Given the description of an element on the screen output the (x, y) to click on. 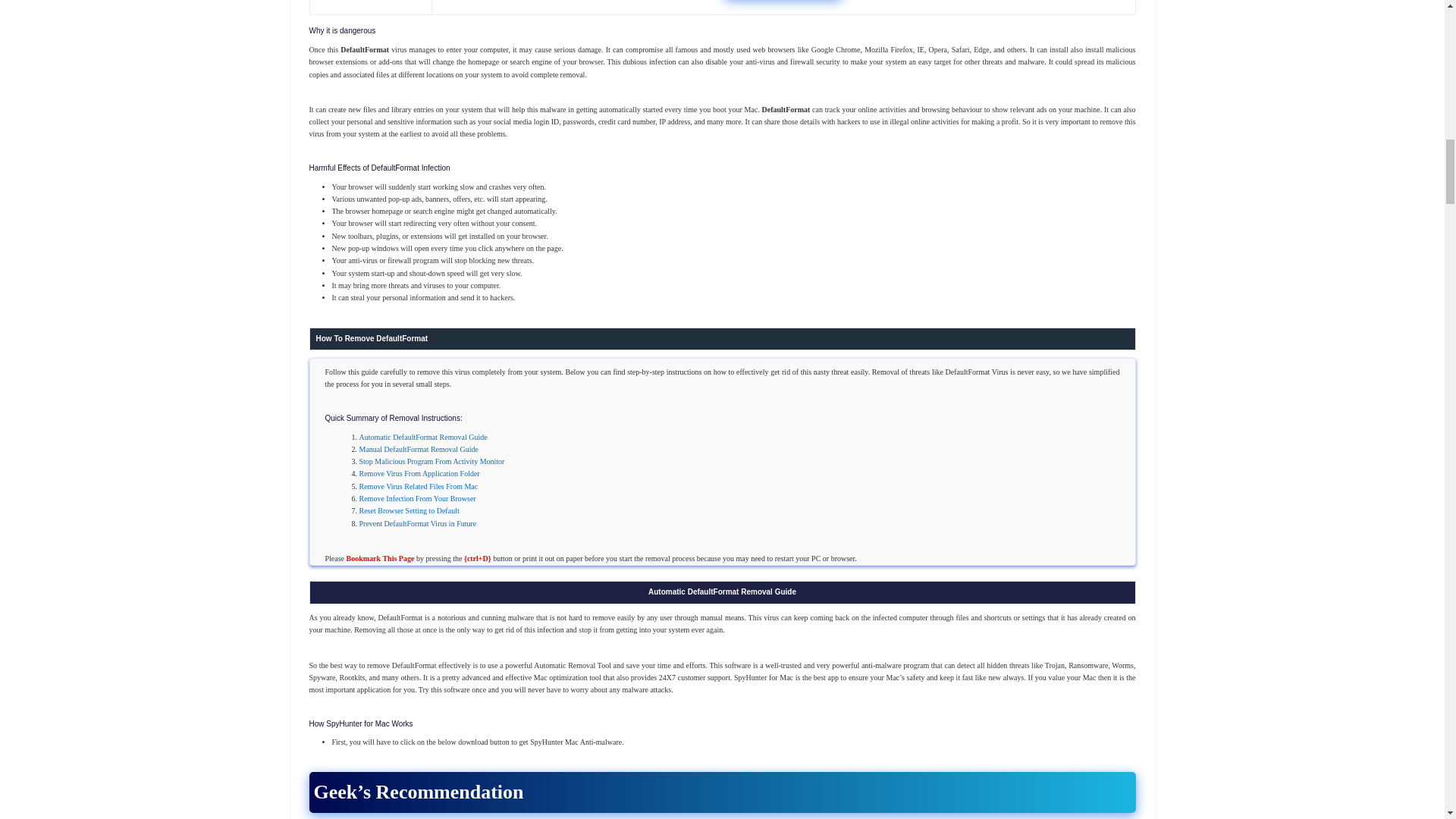
Prevent DefaultFormat Virus in Future (418, 523)
Manual DefaultFormat Removal Guide (419, 449)
Automatic DefaultFormat Removal Guide (423, 437)
Remove Virus Related Files From Mac (419, 486)
Remove Virus From Application Folder (419, 473)
Remove Infection From Your Browser (417, 498)
Stop Malicious Program From Activity Monitor (432, 461)
Reset Browser Setting to Default (409, 510)
